Given the description of an element on the screen output the (x, y) to click on. 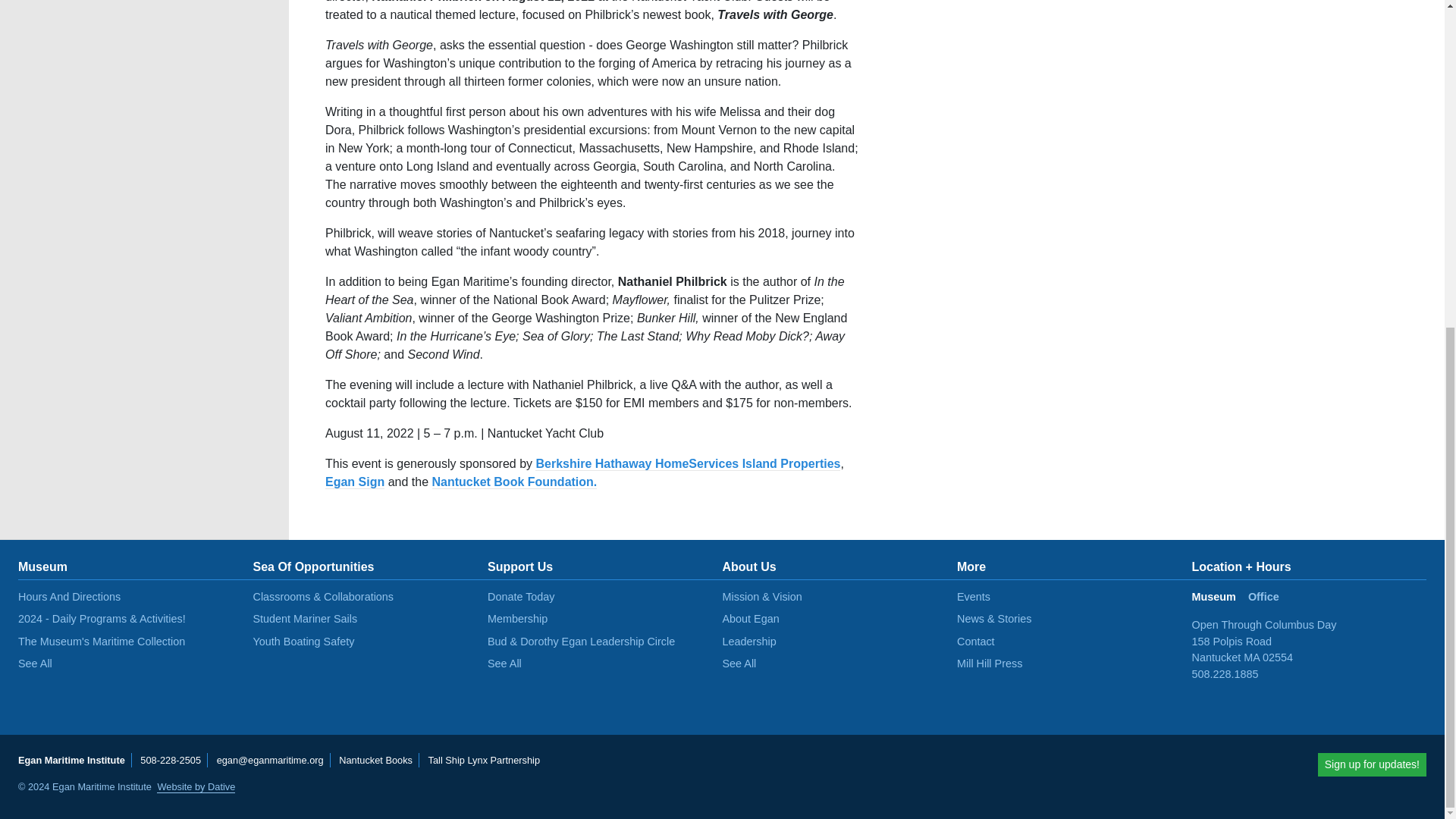
Egan Sign (354, 481)
Museum (41, 566)
See All (738, 663)
The Museum'S Maritime Collection (100, 641)
Berkshire Hathaway HomeServices Island Properties (687, 463)
Youth Boating Safety (304, 641)
Events (973, 596)
Membership (517, 618)
About Us (749, 566)
Support Us (520, 566)
